Given the description of an element on the screen output the (x, y) to click on. 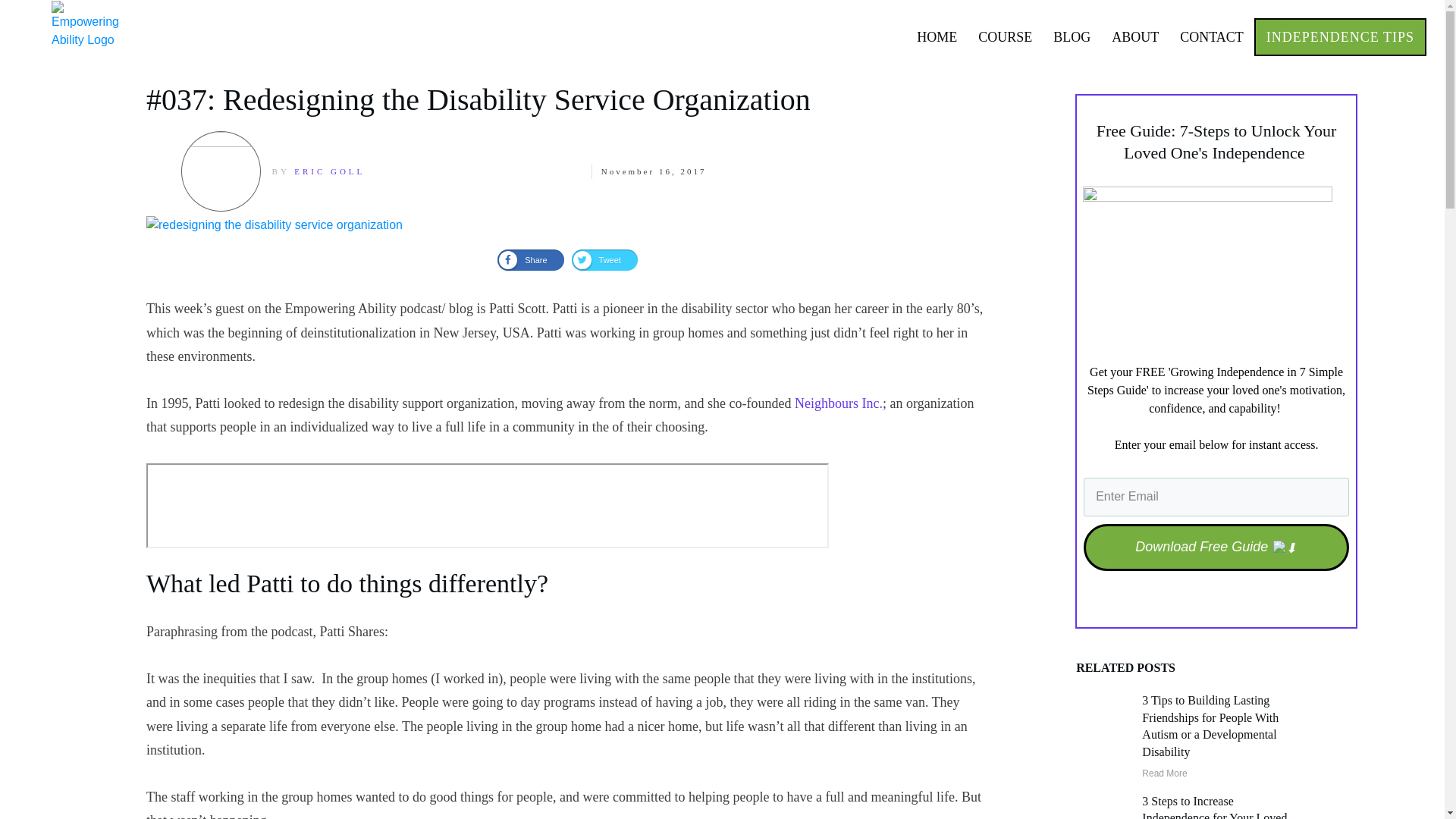
INDEPENDENCE TIPS (1339, 36)
Neighbours Inc. (838, 403)
COURSE (1005, 36)
ABOUT (1135, 36)
ERIC GOLL (329, 171)
free guide growing independence (1207, 267)
CONTACT (1211, 36)
Eric Goll Nature (219, 170)
Tweet (604, 260)
Share (530, 260)
BLOG (1071, 36)
Read More (1163, 773)
HOME (936, 36)
